Given the description of an element on the screen output the (x, y) to click on. 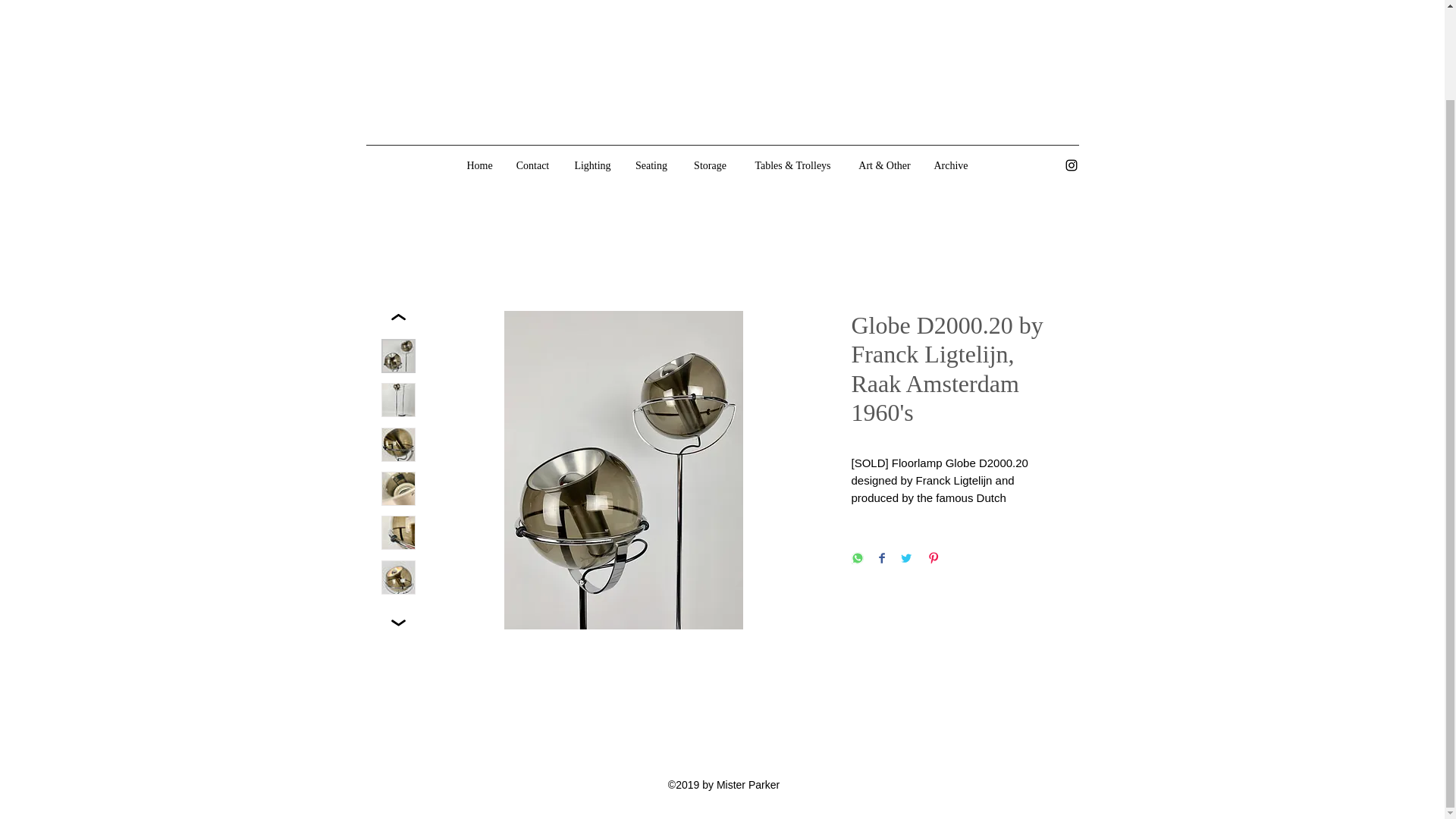
Lighting (592, 165)
Contact (532, 165)
Archive (950, 165)
Seating (651, 165)
Storage (709, 165)
Home (479, 165)
